Given the description of an element on the screen output the (x, y) to click on. 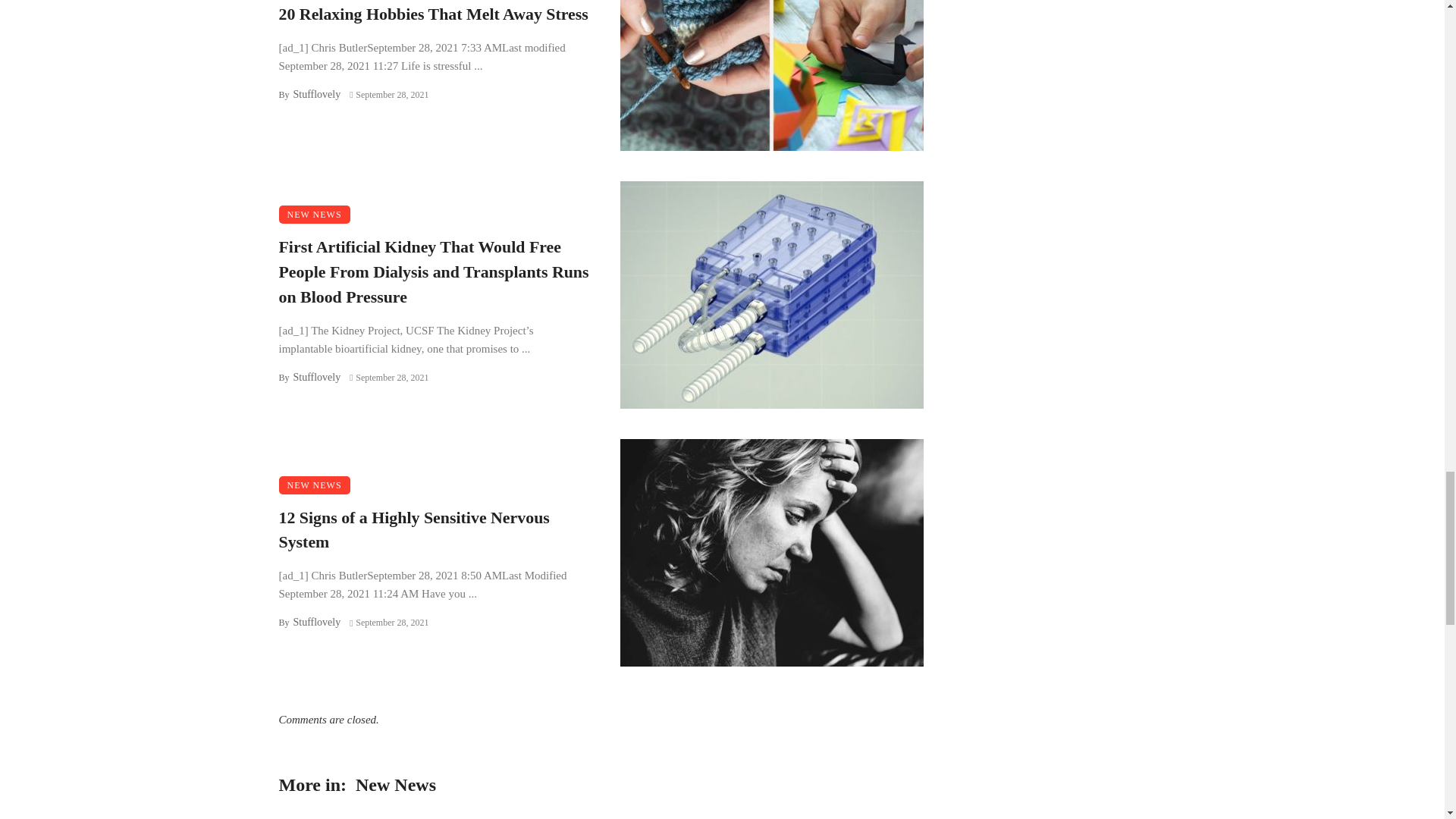
12 Signs of a Highly Sensitive Nervous System (434, 531)
New News (395, 784)
20 Relaxing Hobbies That Melt Away Stress (433, 14)
September 28, 2021 at 10:34 pm (388, 377)
September 28, 2021 at 11:21 pm (388, 94)
NEW NEWS (314, 214)
Stufflovely (316, 377)
NEW NEWS (314, 484)
September 28, 2021 at 9:48 pm (388, 622)
Stufflovely (316, 93)
Stufflovely (316, 622)
